Given the description of an element on the screen output the (x, y) to click on. 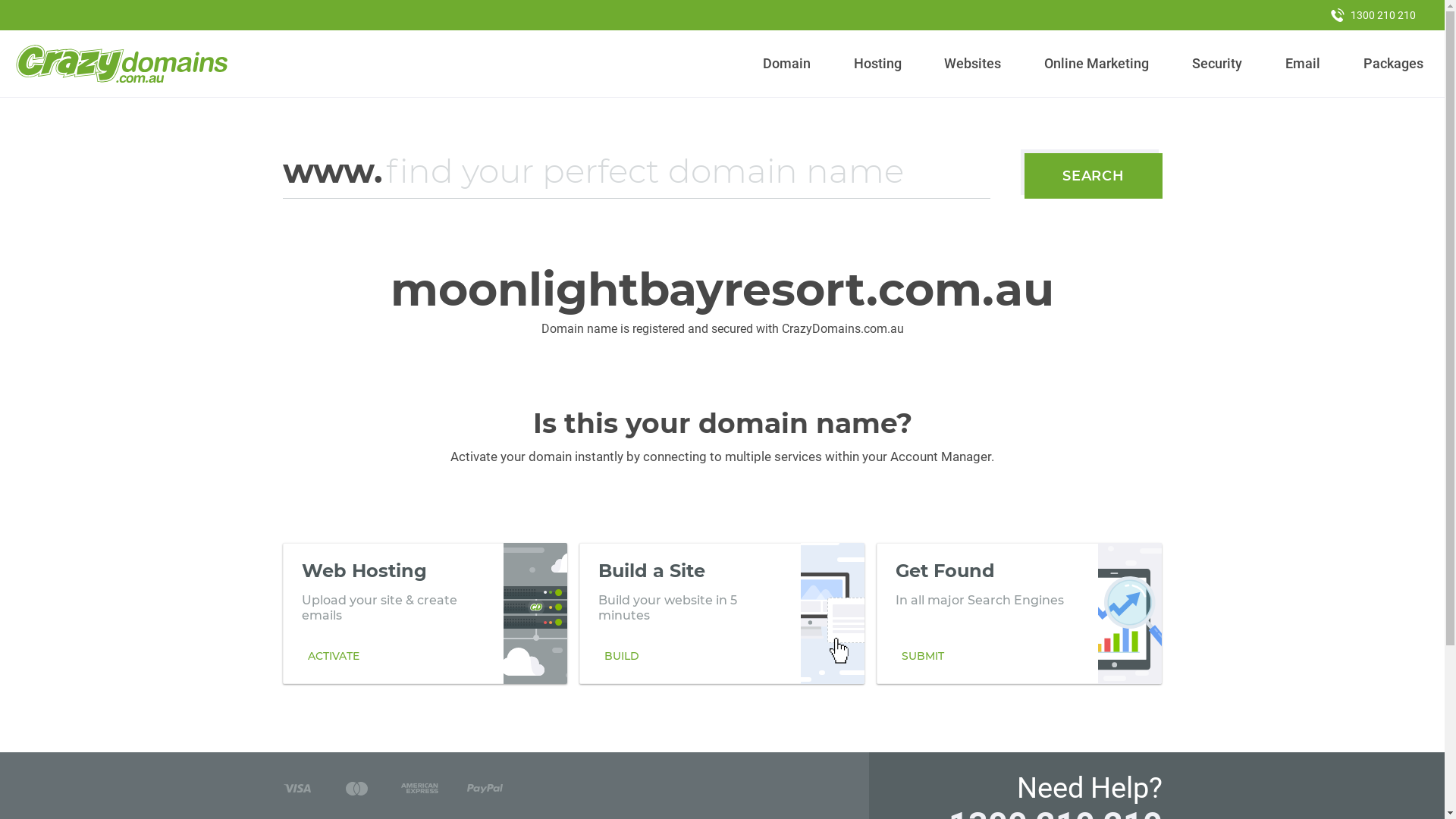
Websites Element type: text (972, 63)
Security Element type: text (1217, 63)
Hosting Element type: text (877, 63)
Packages Element type: text (1392, 63)
Get Found
In all major Search Engines
SUBMIT Element type: text (1018, 613)
Build a Site
Build your website in 5 minutes
BUILD Element type: text (721, 613)
Online Marketing Element type: text (1096, 63)
Domain Element type: text (786, 63)
Web Hosting
Upload your site & create emails
ACTIVATE Element type: text (424, 613)
Email Element type: text (1302, 63)
1300 210 210 Element type: text (1373, 15)
SEARCH Element type: text (1092, 175)
